Given the description of an element on the screen output the (x, y) to click on. 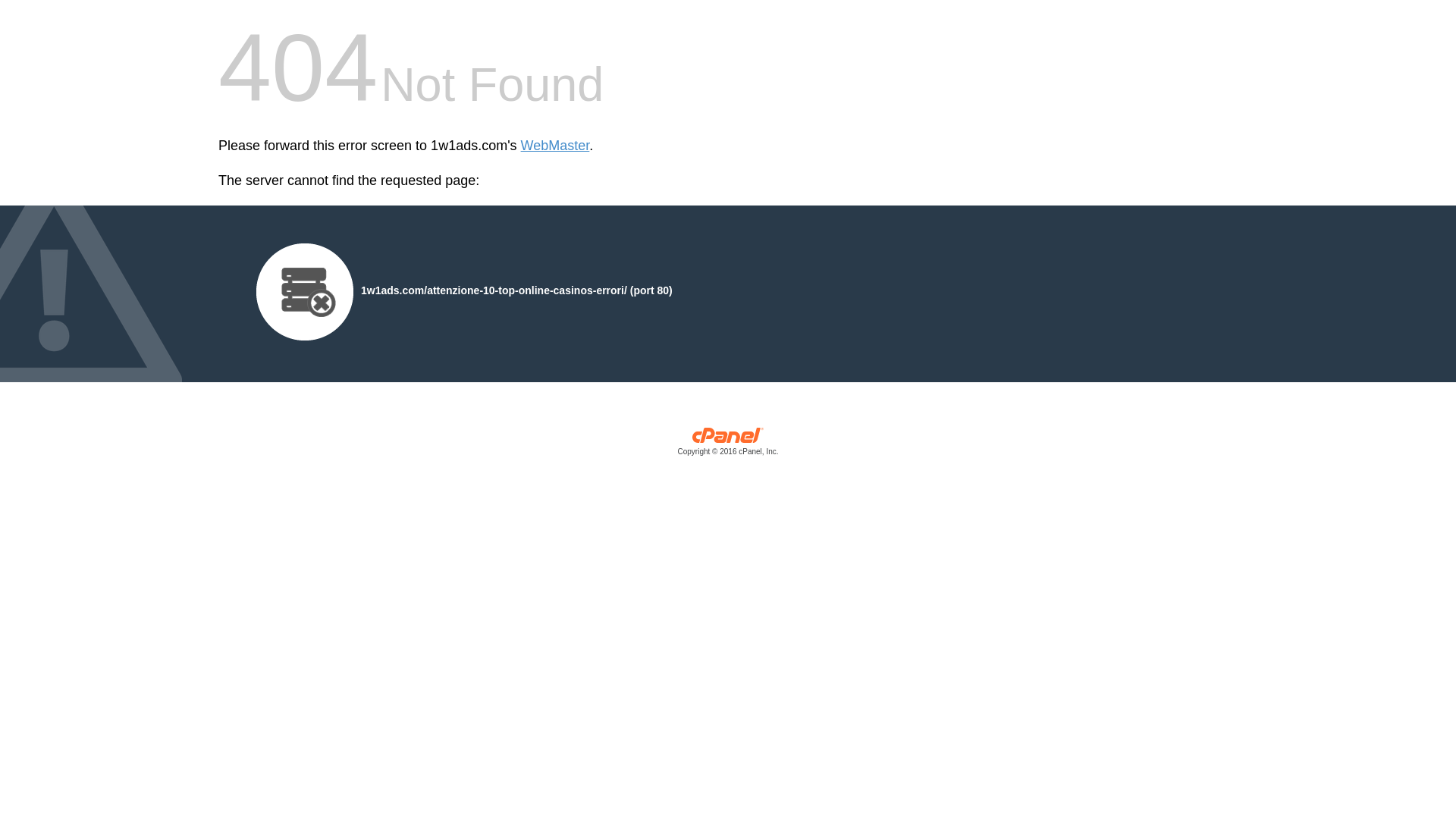
WebMaster Element type: text (554, 145)
